Given the description of an element on the screen output the (x, y) to click on. 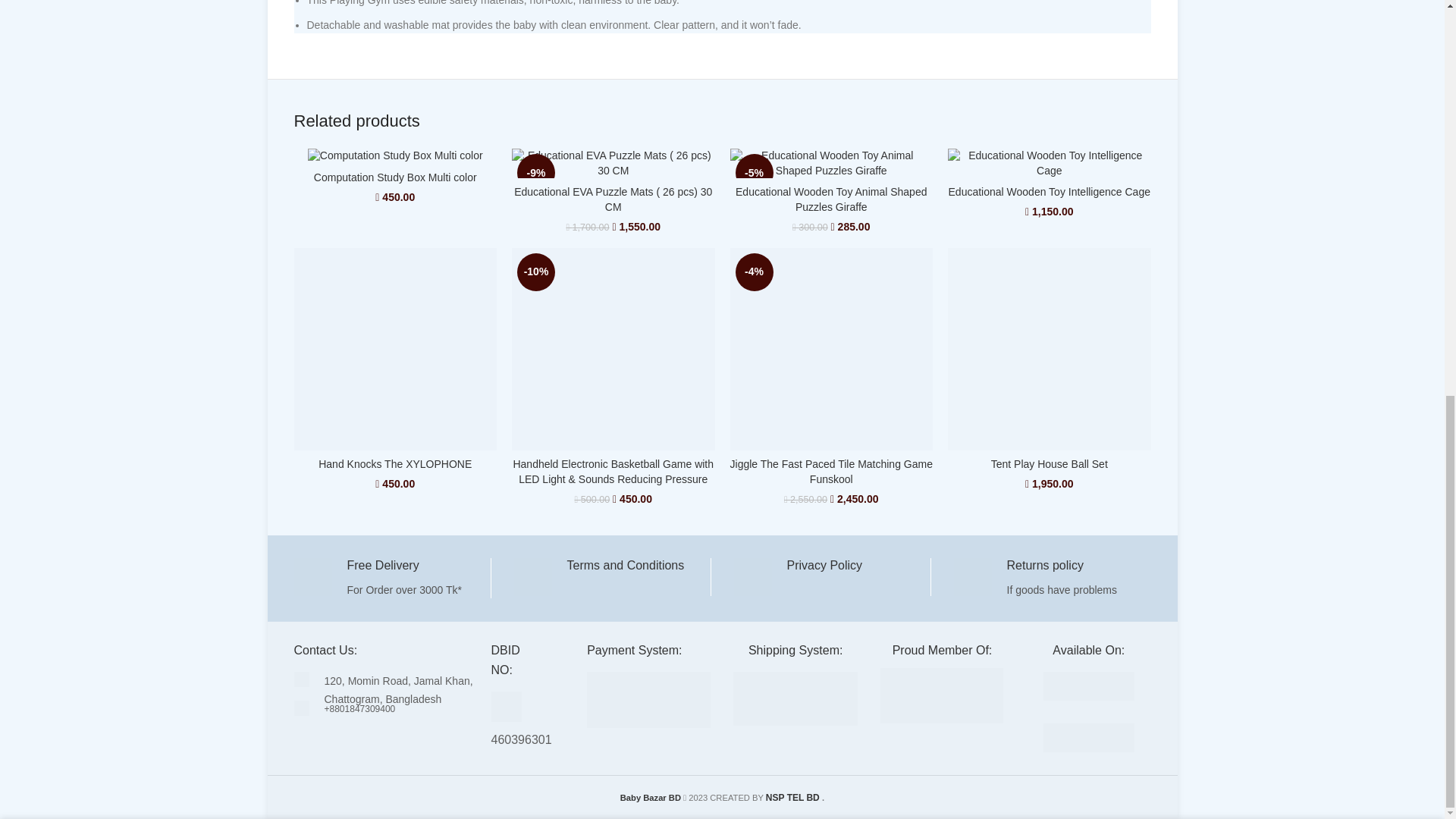
e courier (795, 687)
ECAB (941, 695)
Pathao Courier (795, 714)
Cash on Delivery (648, 699)
